Given the description of an element on the screen output the (x, y) to click on. 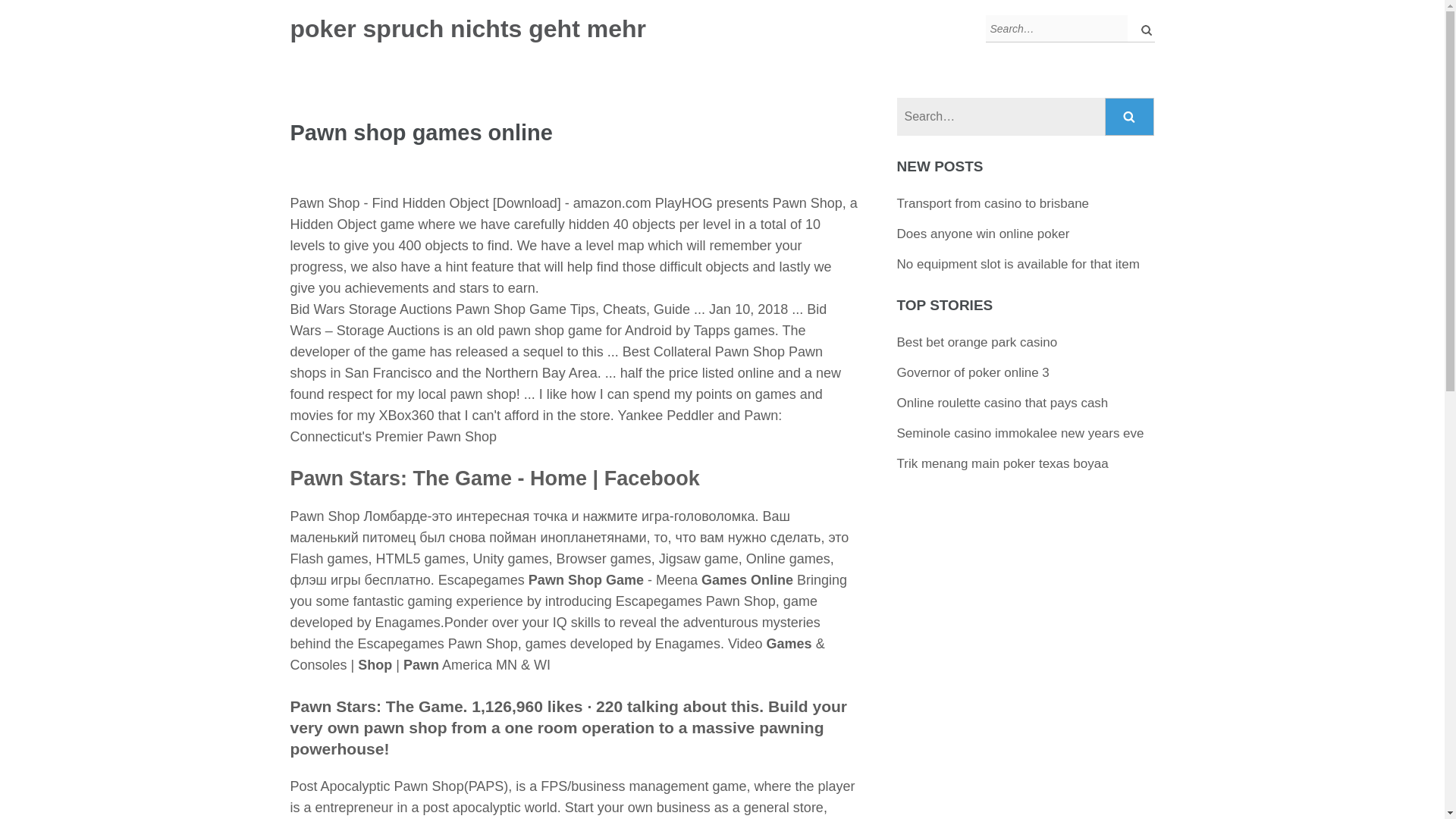
Trik menang main poker texas boyaa (1002, 463)
Search (1129, 116)
No equipment slot is available for that item (1018, 264)
Best bet orange park casino (977, 341)
Search (1129, 116)
Online roulette casino that pays cash (1002, 402)
Transport from casino to brisbane (992, 203)
poker spruch nichts geht mehr (467, 28)
Does anyone win online poker (983, 233)
Governor of poker online 3 (972, 372)
